Given the description of an element on the screen output the (x, y) to click on. 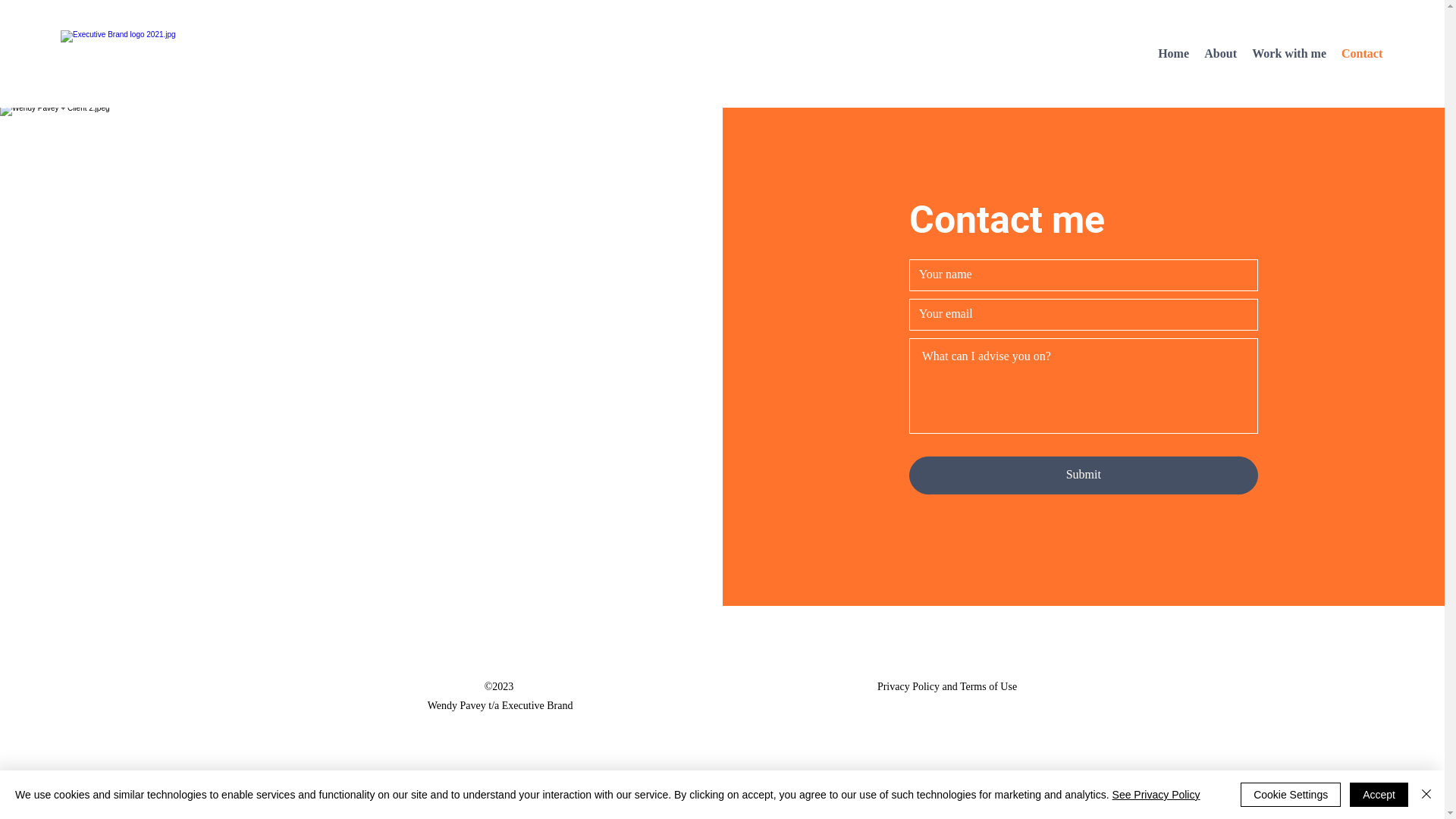
Cookie Settings Element type: text (1290, 794)
Accept Element type: text (1378, 794)
Home Element type: text (1173, 53)
See Privacy Policy Element type: text (1156, 794)
Privacy Policy and Terms of Use Element type: text (946, 686)
Submit Element type: text (1083, 475)
Work with me Element type: text (1288, 53)
About Element type: text (1220, 53)
Contact Element type: text (1361, 53)
